Given the description of an element on the screen output the (x, y) to click on. 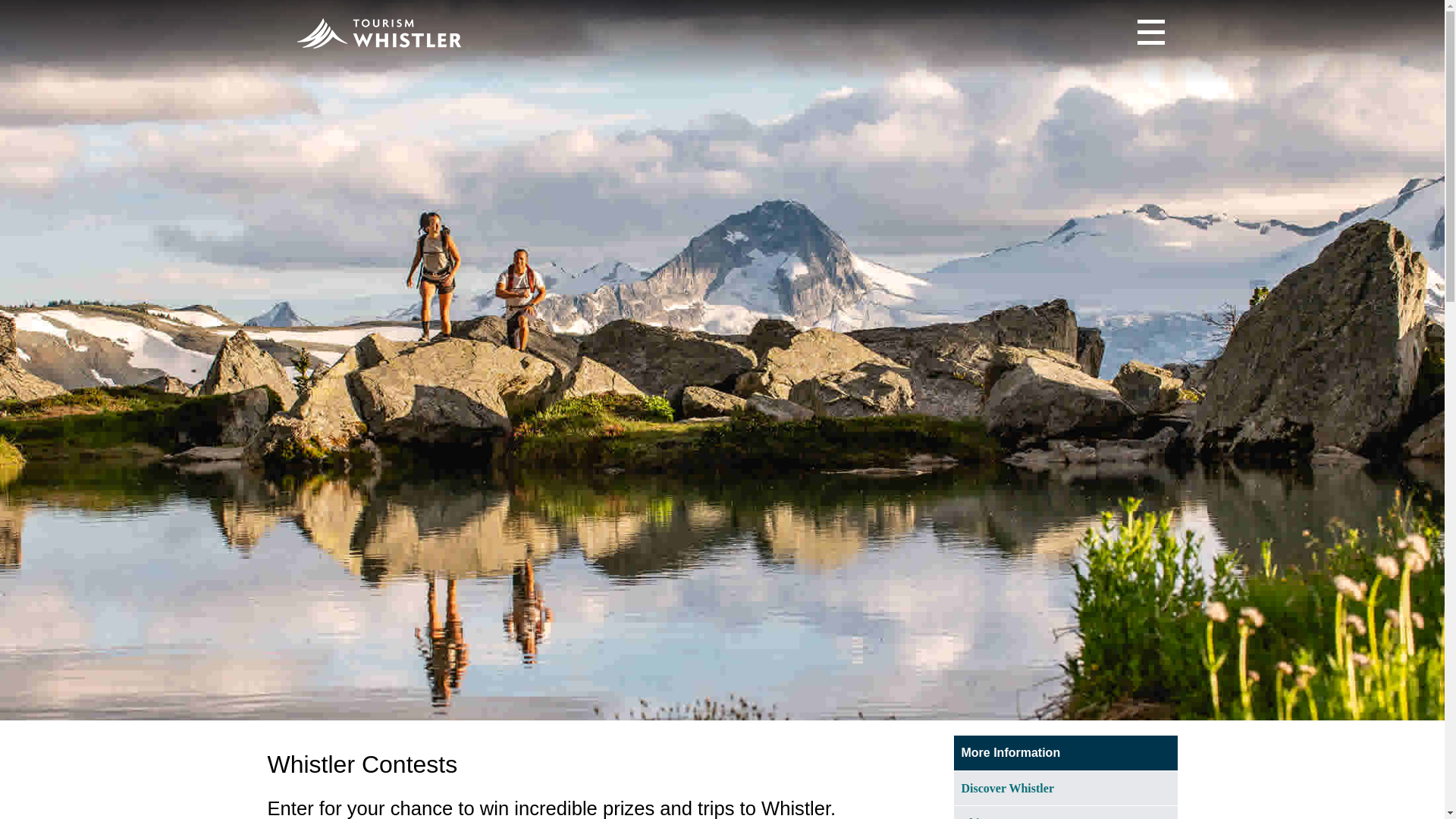
Tourism Whistler (391, 33)
Discover Whistler (1065, 788)
Things To Do (1065, 812)
